Given the description of an element on the screen output the (x, y) to click on. 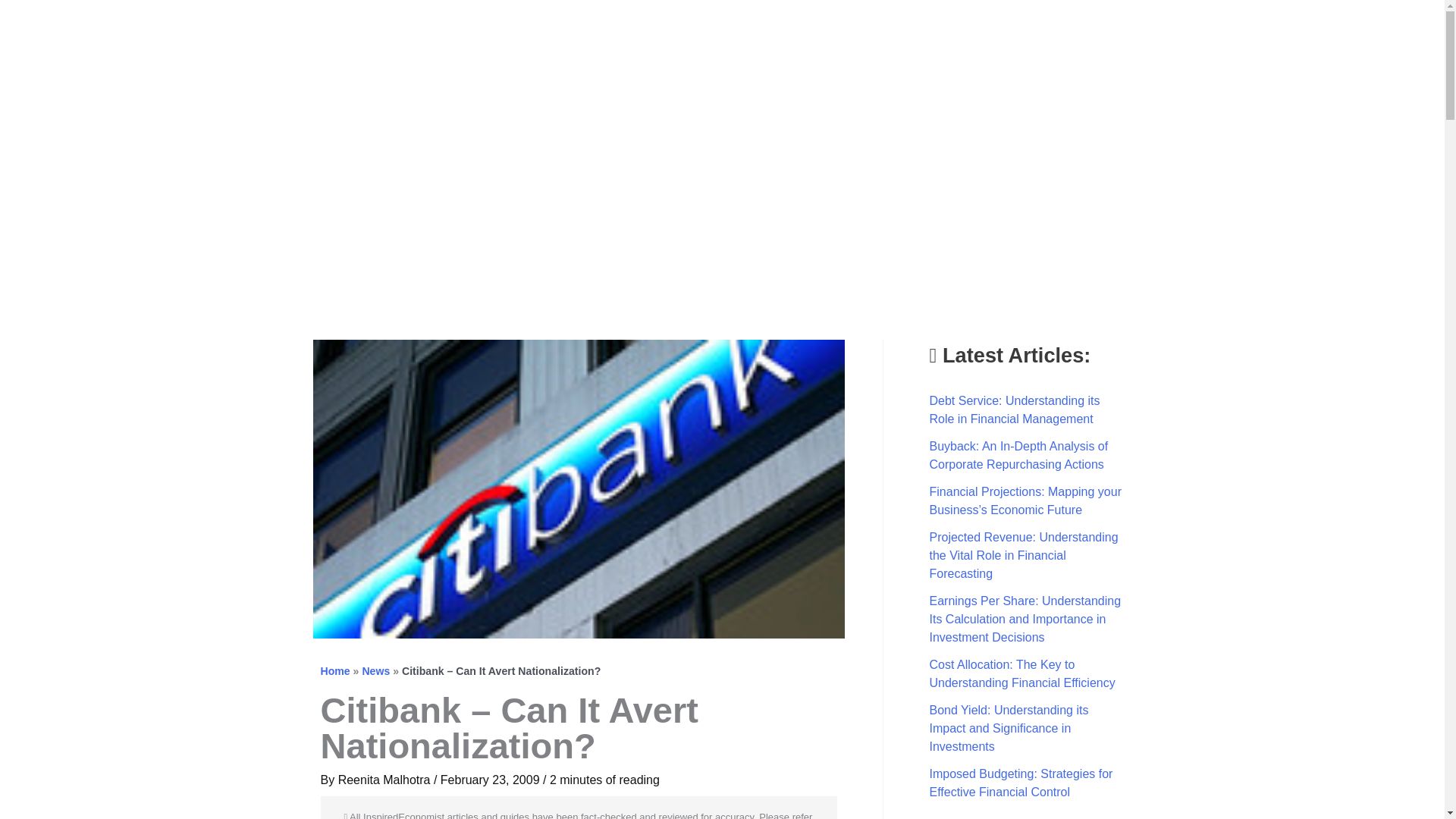
Home (334, 671)
Corporate Social Responsibility (1279, 31)
Resources (1354, 31)
Investing (1208, 31)
Reenita Malhotra (385, 779)
News (375, 671)
View all posts by Reenita Malhotra (385, 779)
CSR (1279, 31)
Finance (1127, 31)
